Given the description of an element on the screen output the (x, y) to click on. 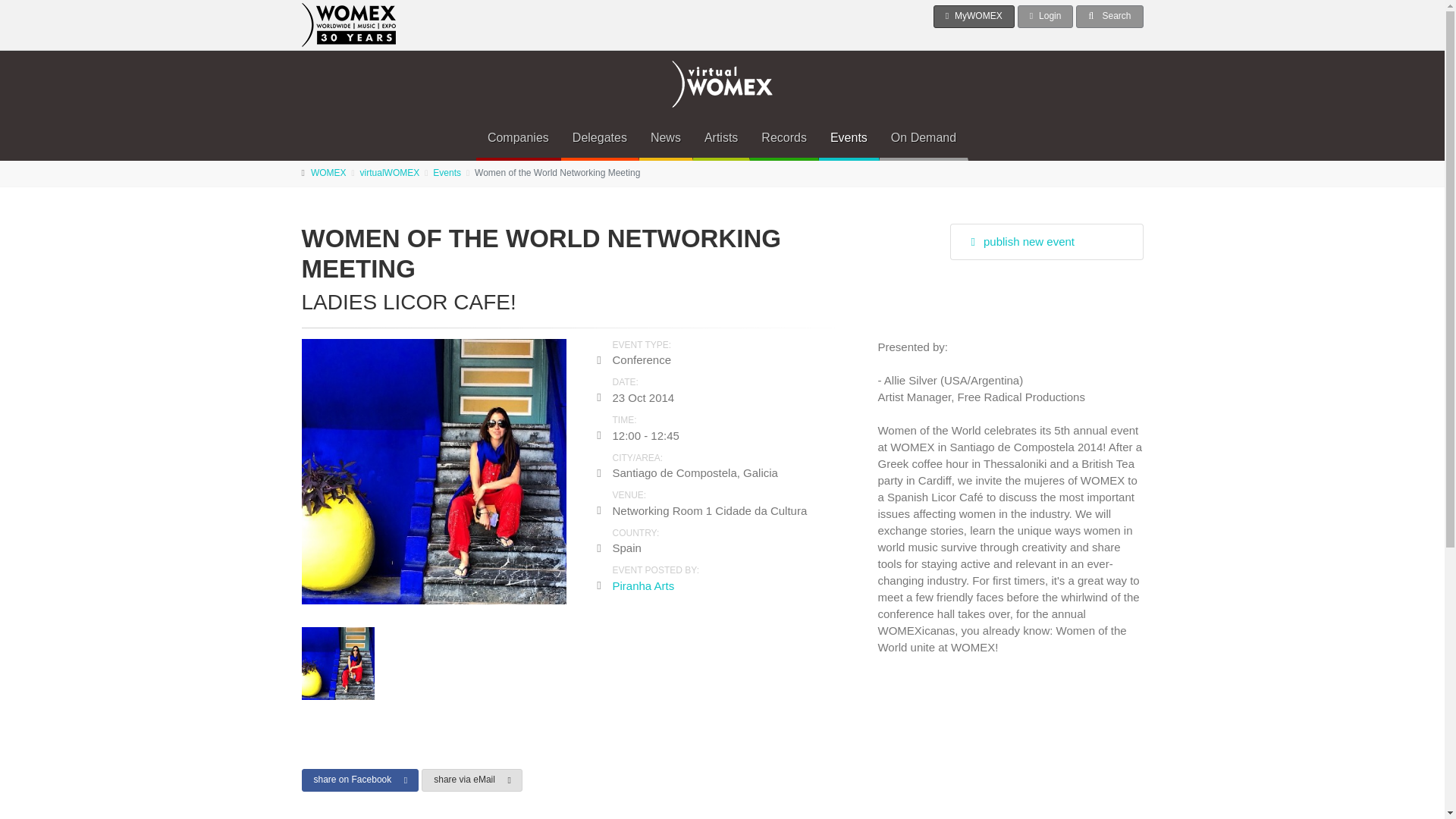
virtualWOMEX (389, 172)
Artists (721, 138)
Records (783, 138)
News (666, 138)
Events (848, 138)
Search (1108, 15)
Events (446, 172)
share via eMail (472, 780)
Login (1045, 15)
Delegates (599, 138)
